Given the description of an element on the screen output the (x, y) to click on. 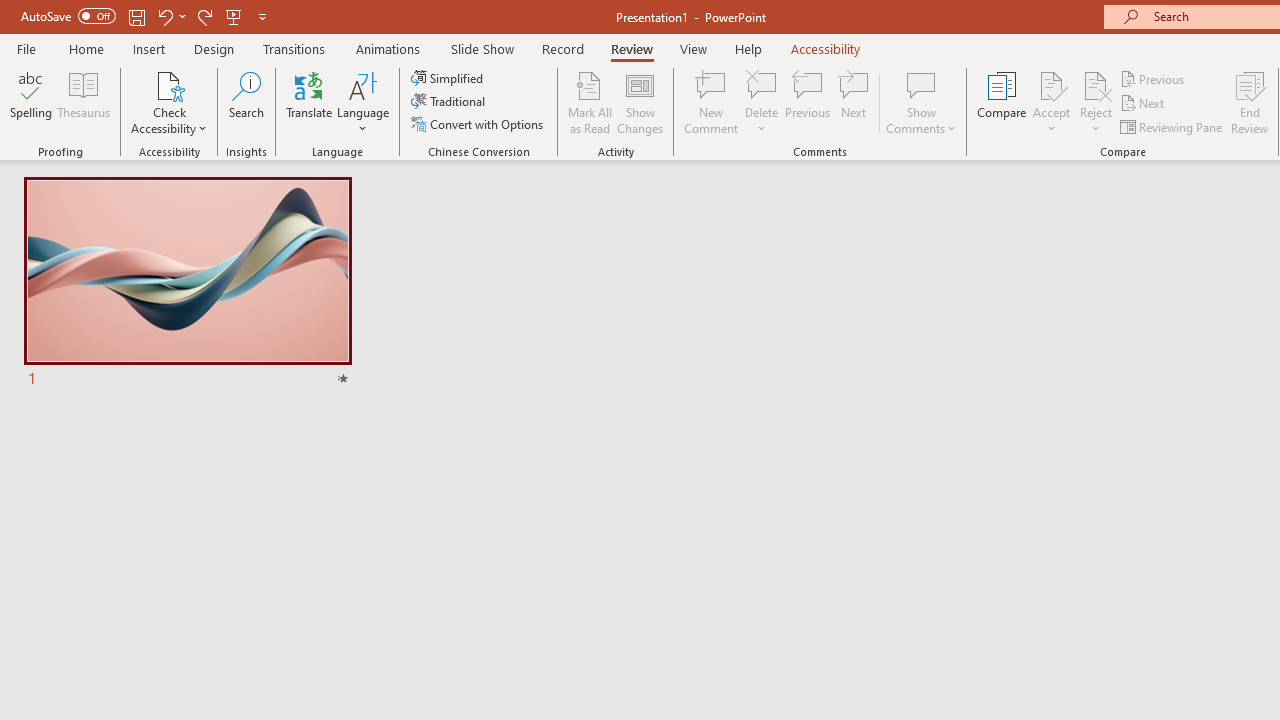
Accept (1051, 102)
Show Comments (921, 84)
Spelling... (31, 102)
Show Comments (921, 102)
Check Accessibility (169, 84)
Mark All as Read (589, 102)
Simplified (449, 78)
Slide (187, 284)
Traditional (449, 101)
Delete (762, 84)
